Given the description of an element on the screen output the (x, y) to click on. 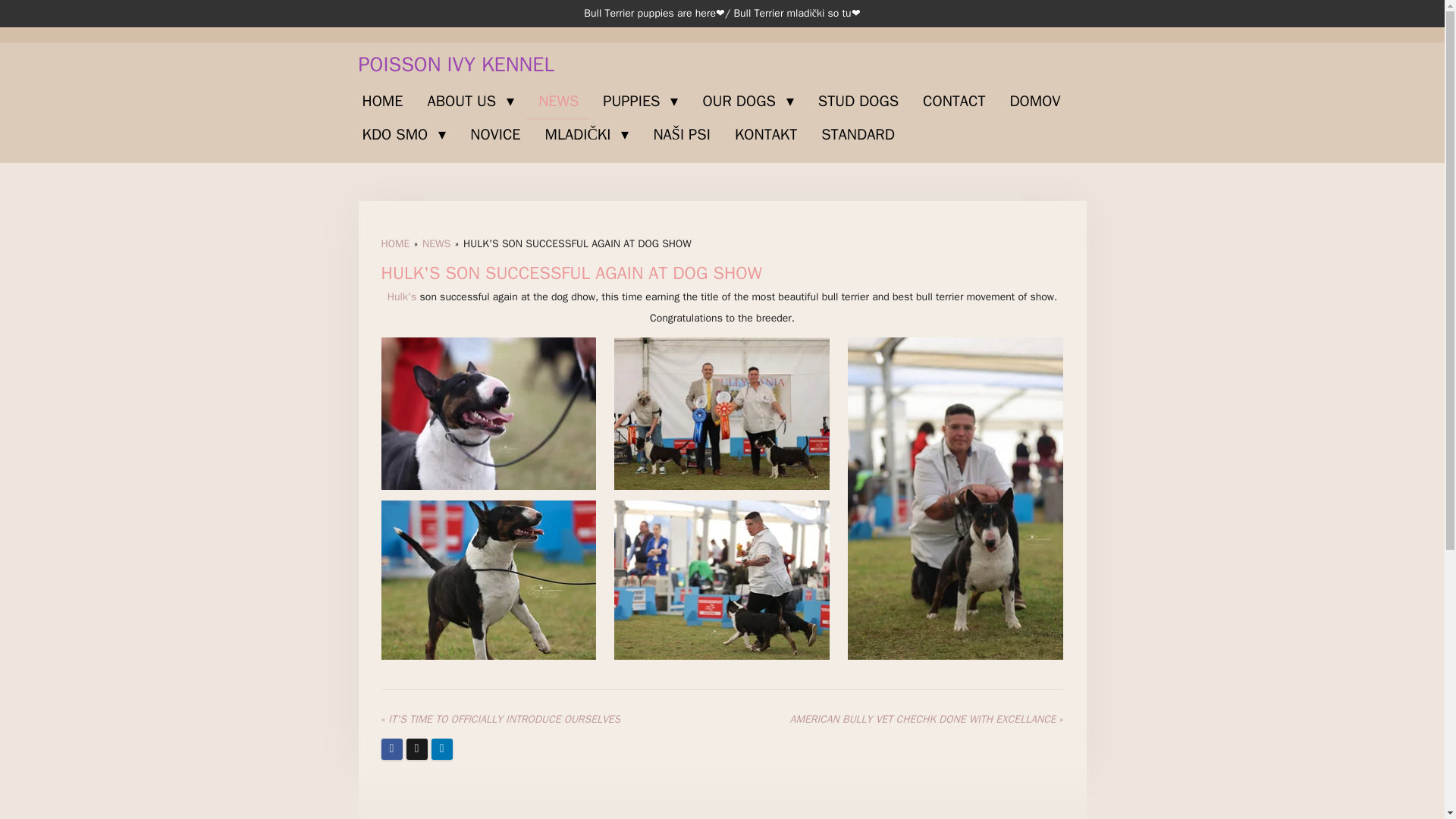
KONTAKT (765, 134)
STUD DOGS (858, 101)
HOME (382, 101)
CONTACT (954, 101)
POISSON IVY KENNEL (455, 63)
OUR DOGS (747, 101)
HOME (394, 243)
NOVICE (495, 134)
DOMOV (1034, 101)
ABOUT US (469, 101)
Hulk's (401, 296)
PUPPIES (640, 101)
NEWS (558, 101)
NEWS (435, 243)
HULK'S SON SUCCESSFUL AGAIN AT DOG SHOW (577, 243)
